Given the description of an element on the screen output the (x, y) to click on. 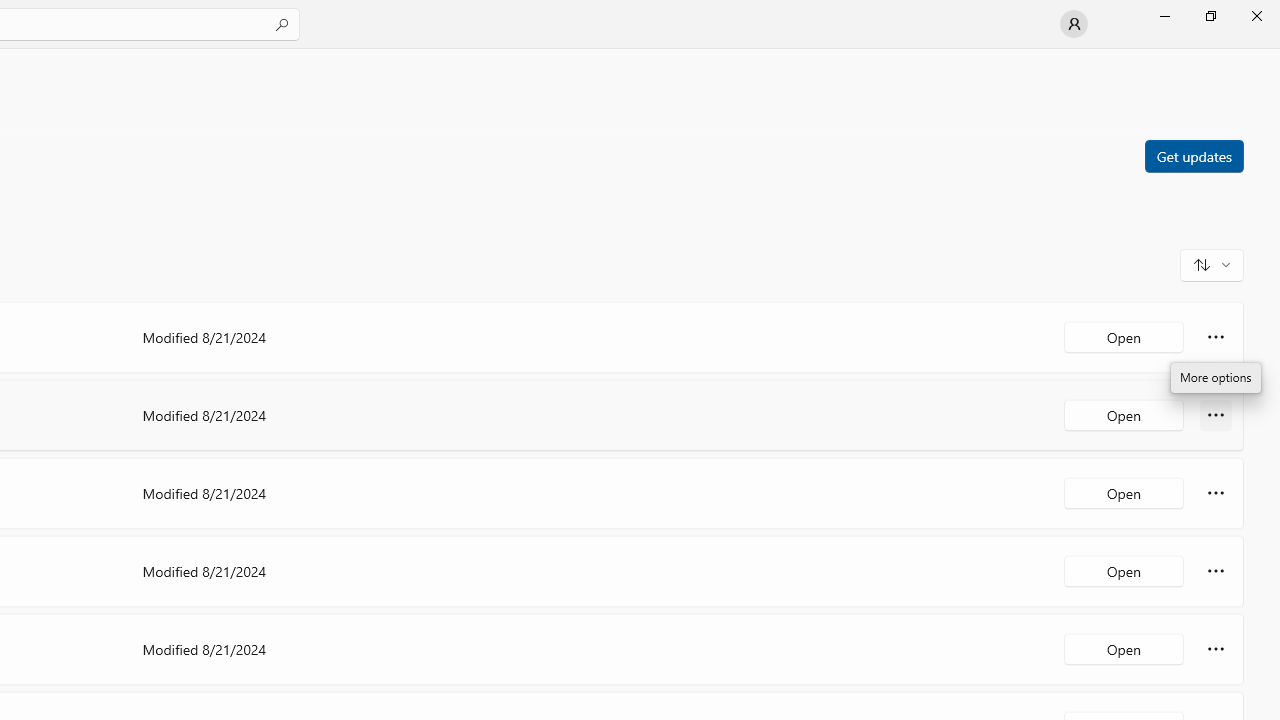
Open (1123, 648)
More options (1215, 648)
User profile (1073, 24)
Restore Microsoft Store (1210, 15)
Close Microsoft Store (1256, 15)
Get updates (1193, 155)
Minimize Microsoft Store (1164, 15)
Sort and filter (1212, 263)
